Given the description of an element on the screen output the (x, y) to click on. 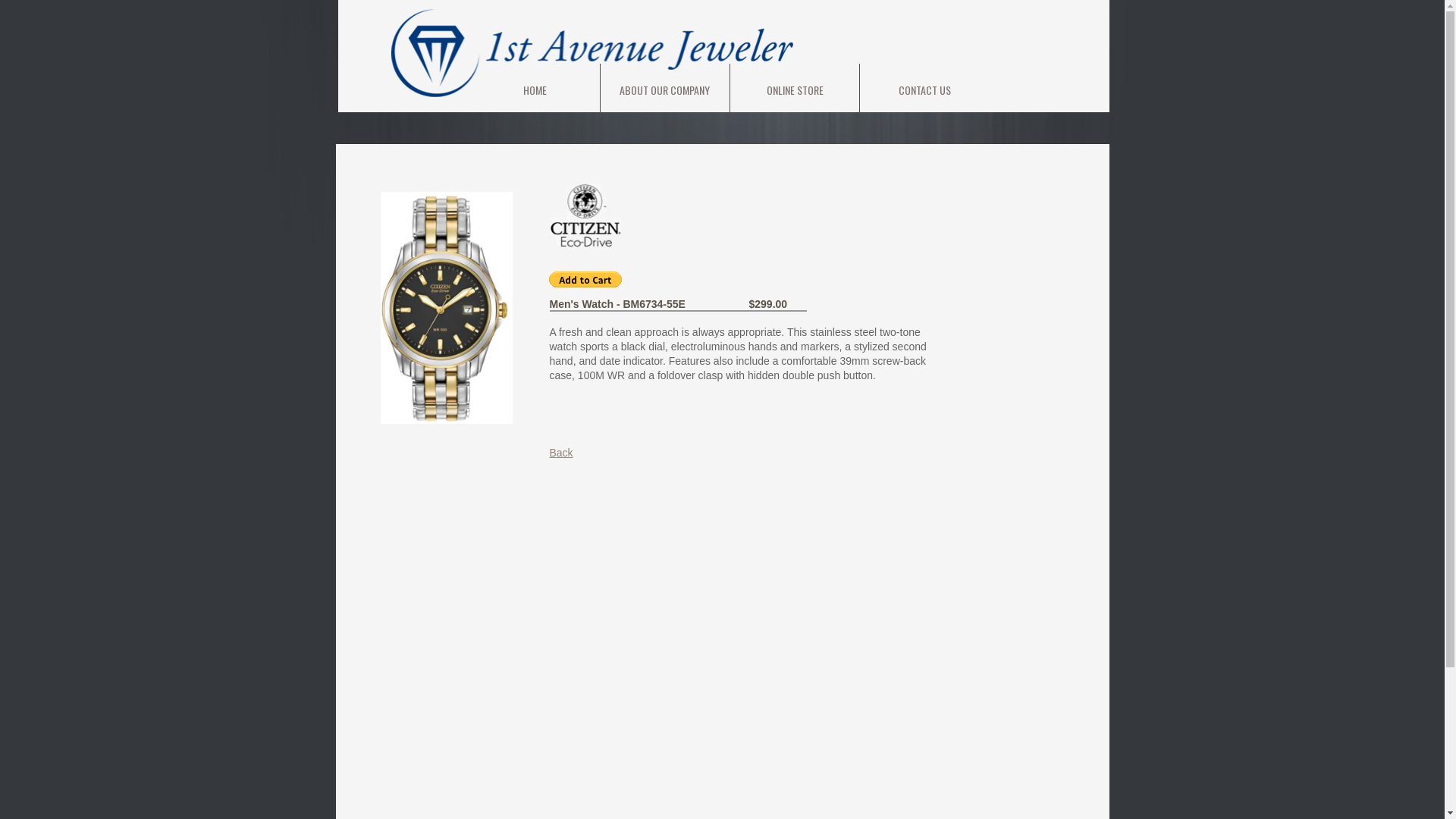
HOME Element type: text (534, 89)
Back Element type: text (560, 452)
CONTACT US Element type: text (924, 89)
ABOUT OUR COMPANY Element type: text (664, 89)
ONLINE STORE Element type: text (794, 89)
